Given the description of an element on the screen output the (x, y) to click on. 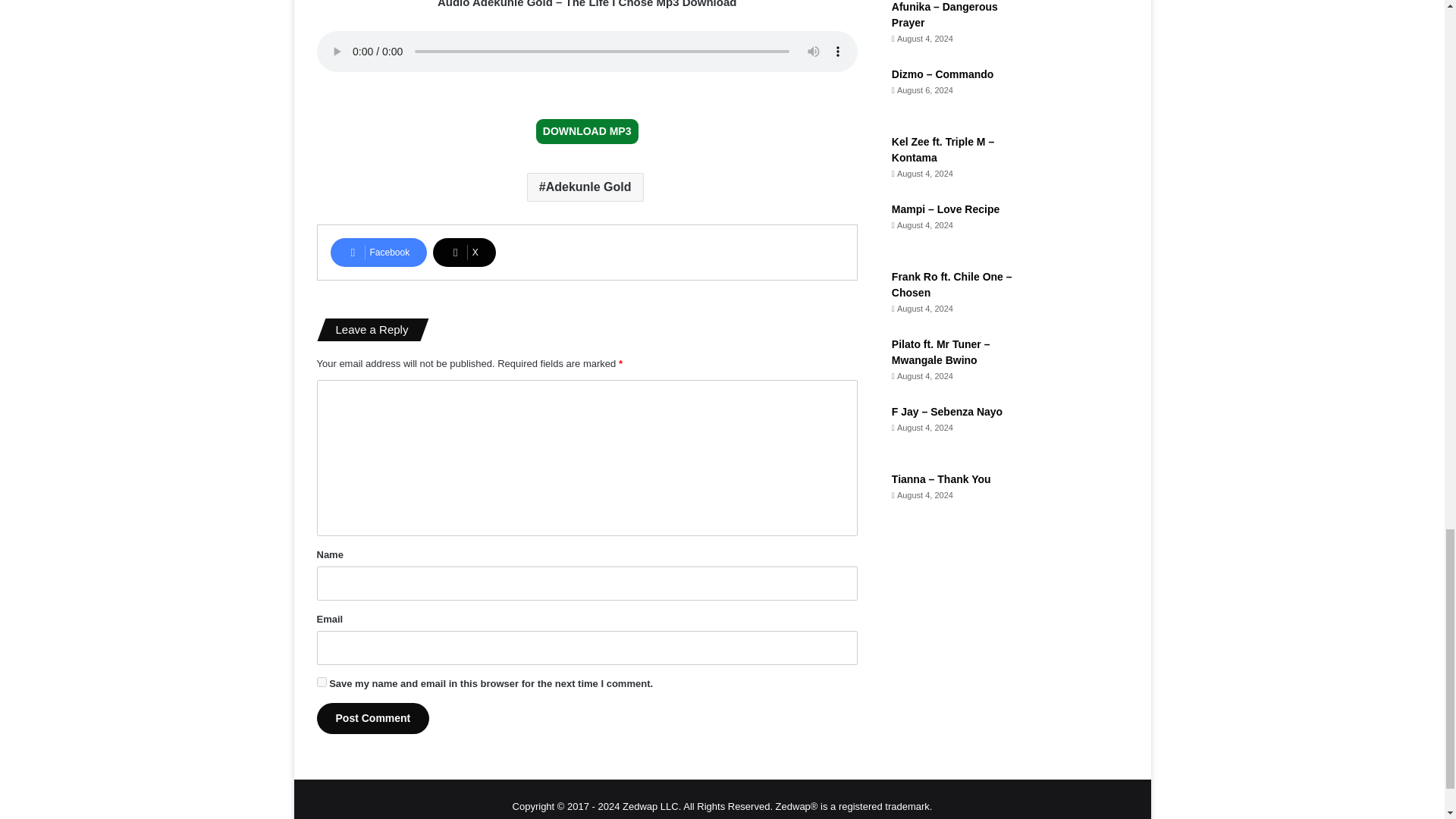
DOWNLOAD MP3 (587, 131)
Post Comment (373, 717)
Facebook (379, 252)
X (464, 252)
yes (321, 682)
